Given the description of an element on the screen output the (x, y) to click on. 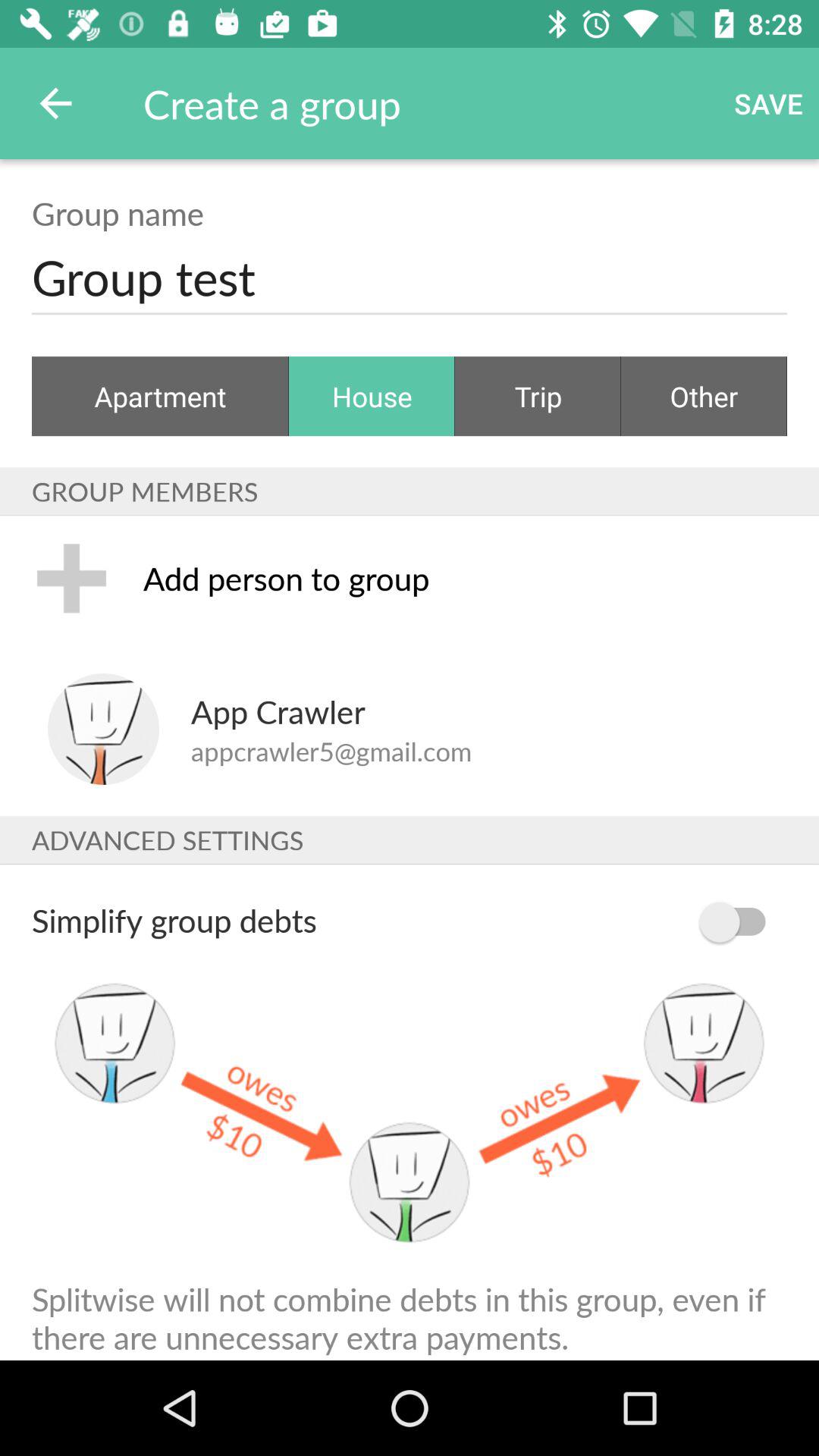
jump to add person to (465, 578)
